Given the description of an element on the screen output the (x, y) to click on. 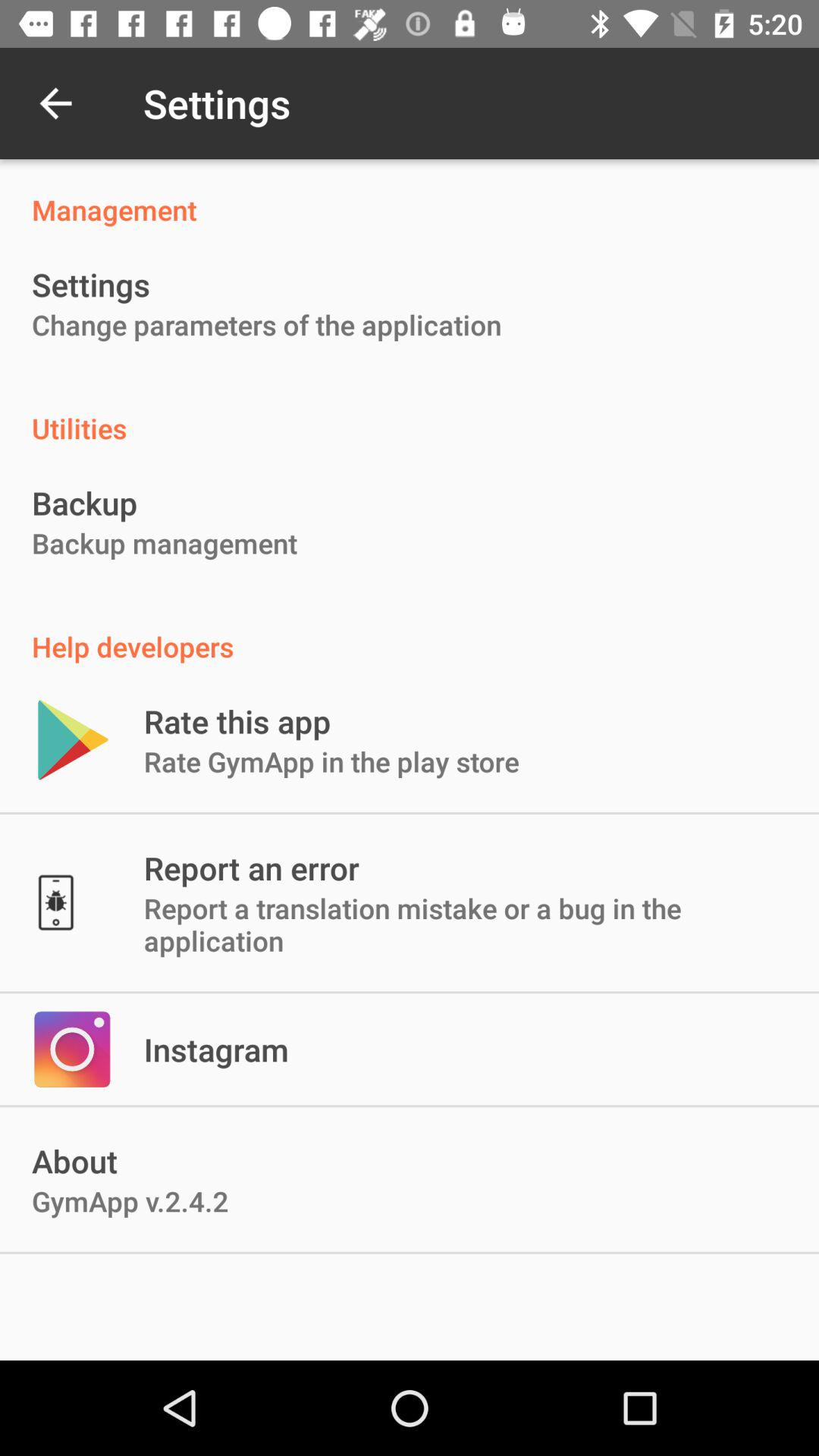
launch about (74, 1160)
